Given the description of an element on the screen output the (x, y) to click on. 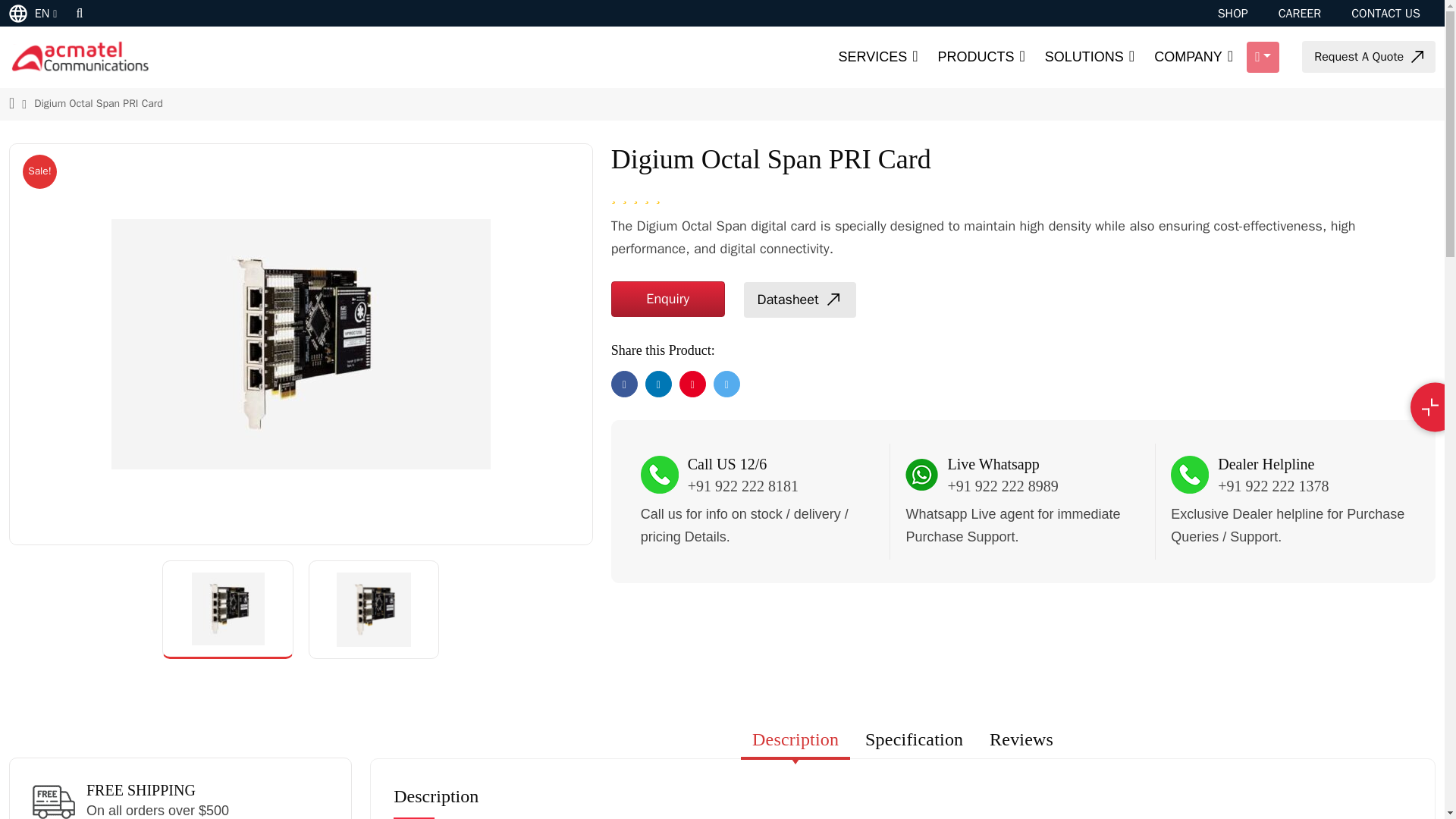
CAREER (1300, 13)
SHOP (1232, 13)
EN (34, 12)
CONTACT US (1386, 13)
SERVICES (877, 56)
